Given the description of an element on the screen output the (x, y) to click on. 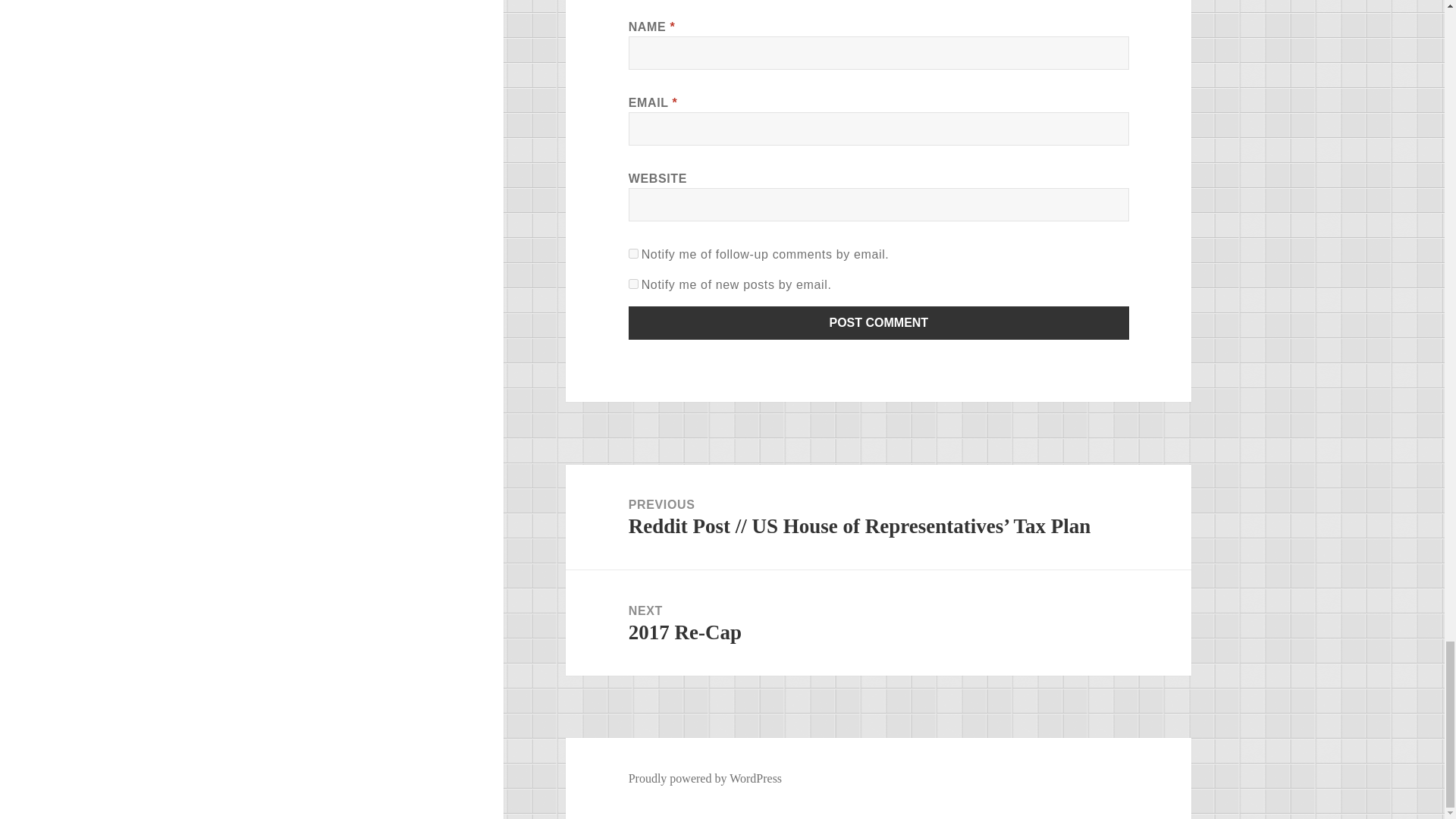
Post Comment (878, 322)
subscribe (633, 253)
subscribe (633, 284)
